Given the description of an element on the screen output the (x, y) to click on. 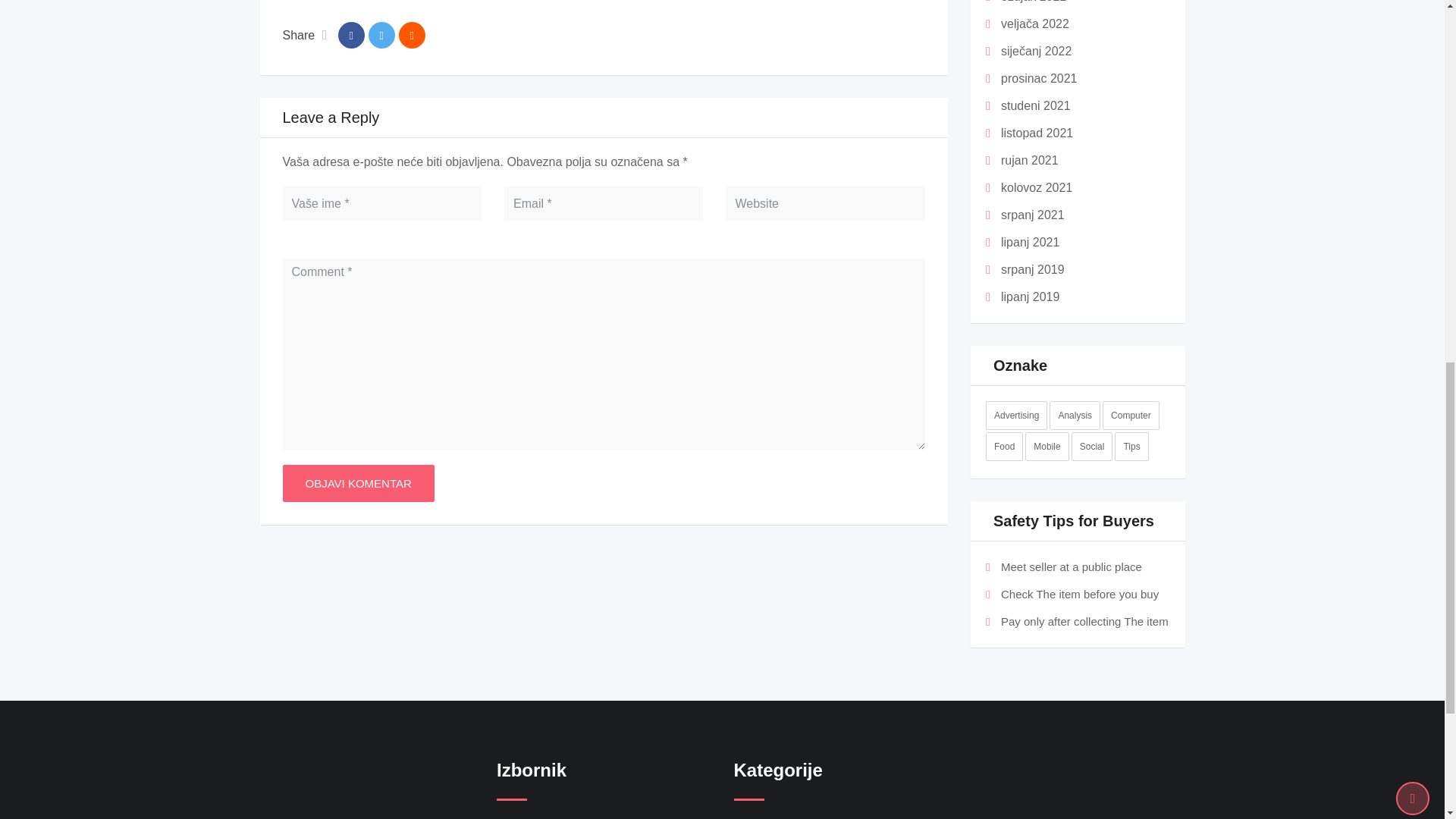
Please wait until Google reCaptcha is loaded. (357, 483)
prosinac 2021 (1039, 78)
Objavi komentar (357, 483)
Objavi komentar (357, 483)
